Given the description of an element on the screen output the (x, y) to click on. 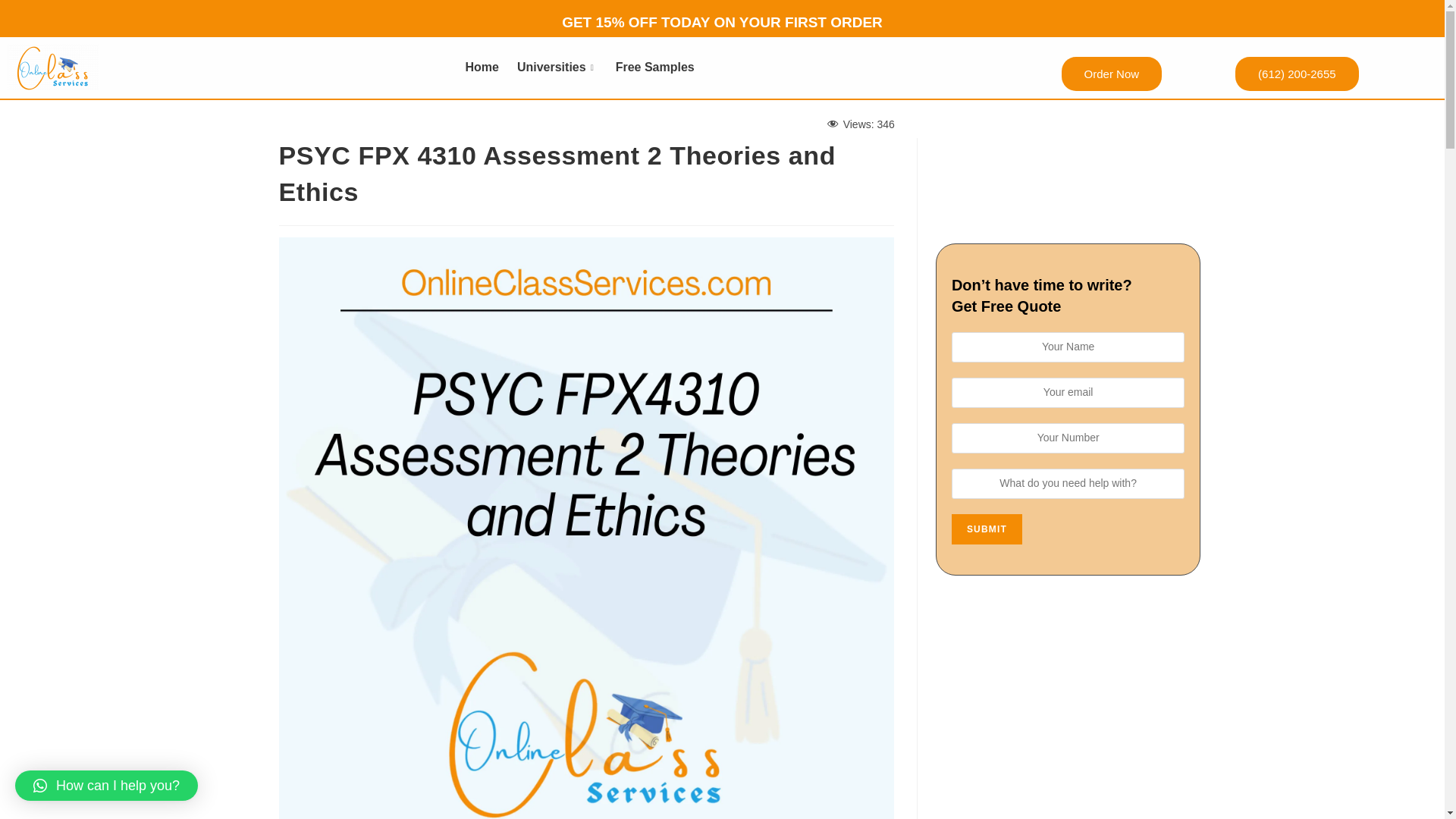
Home (480, 67)
Order Now (1111, 73)
Submit (987, 529)
Universities (557, 67)
Free Samples (655, 67)
1 (53, 67)
